Given the description of an element on the screen output the (x, y) to click on. 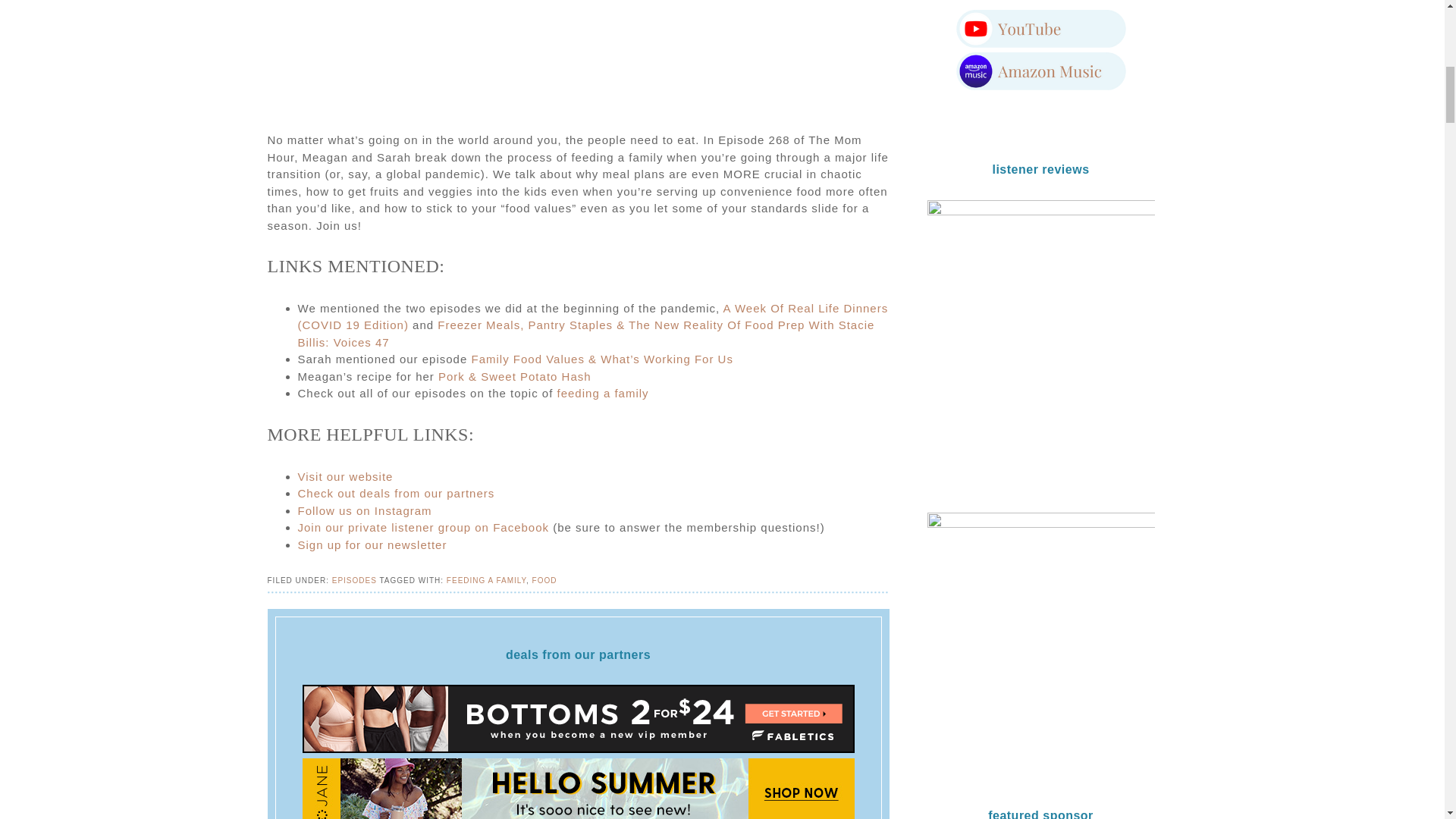
Check out deals from our partners (396, 492)
Follow us on Instagram (363, 510)
Visit our website (345, 476)
feeding a family (603, 392)
